Given the description of an element on the screen output the (x, y) to click on. 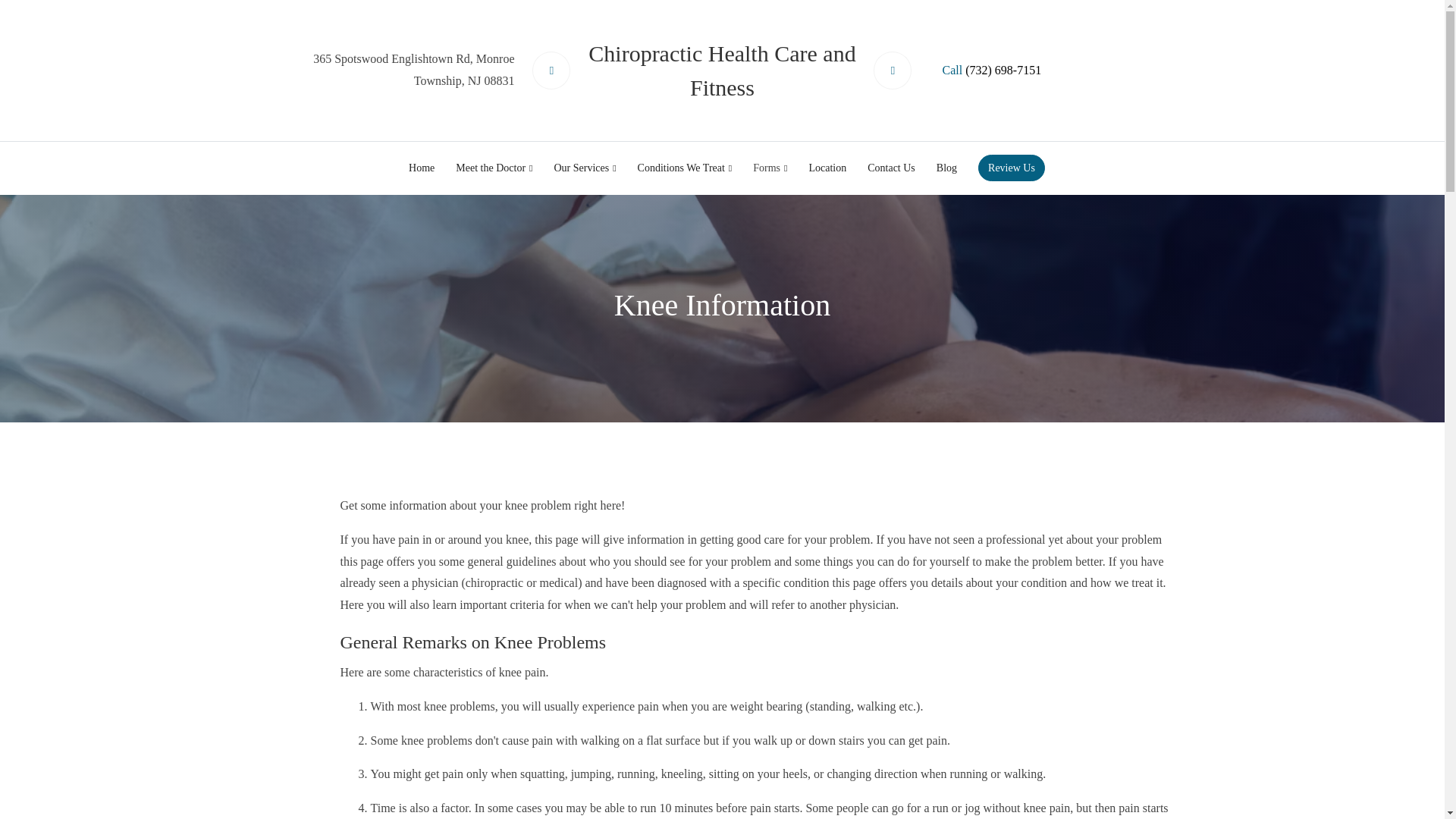
Chiropractic Health Care and Fitness (722, 73)
Meet the Doctor (493, 168)
Our Services (584, 168)
Conditions We Treat (684, 168)
Home (421, 168)
